Given the description of an element on the screen output the (x, y) to click on. 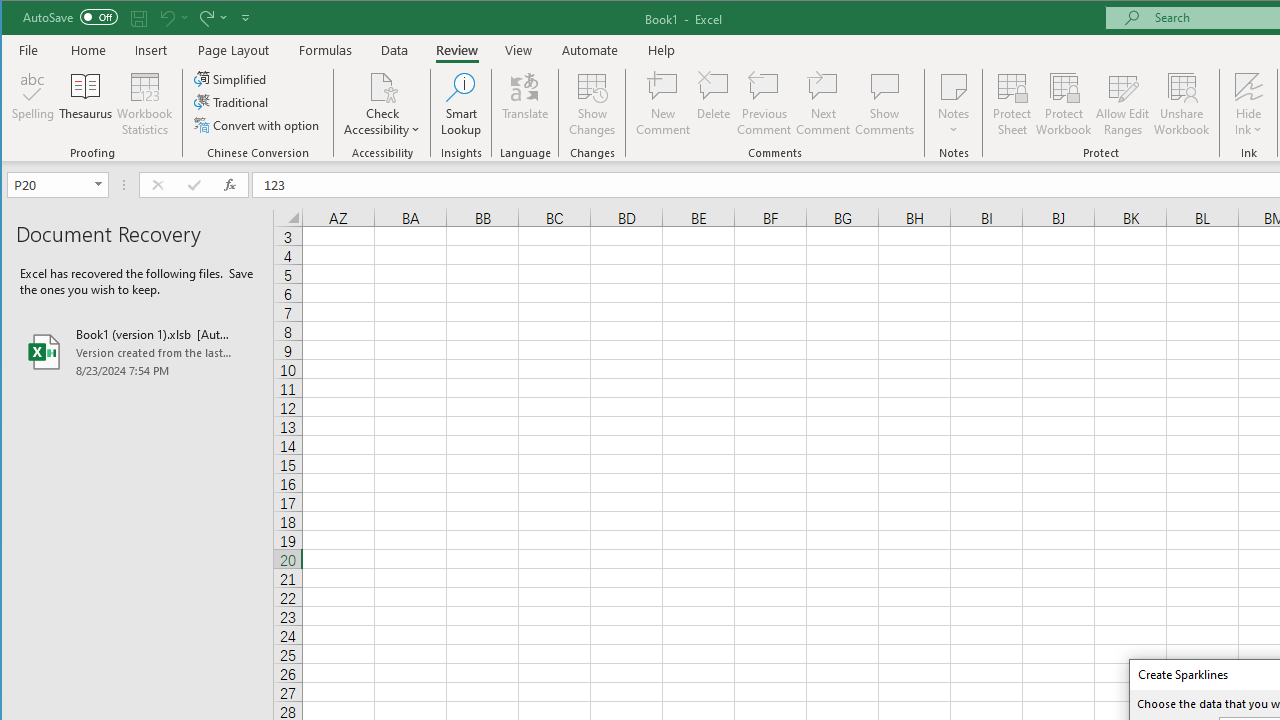
Hide Ink (1248, 86)
Workbook Statistics (145, 104)
Thesaurus... (86, 104)
Delete (713, 104)
Simplified (231, 78)
Automate (589, 50)
Traditional (232, 101)
